Given the description of an element on the screen output the (x, y) to click on. 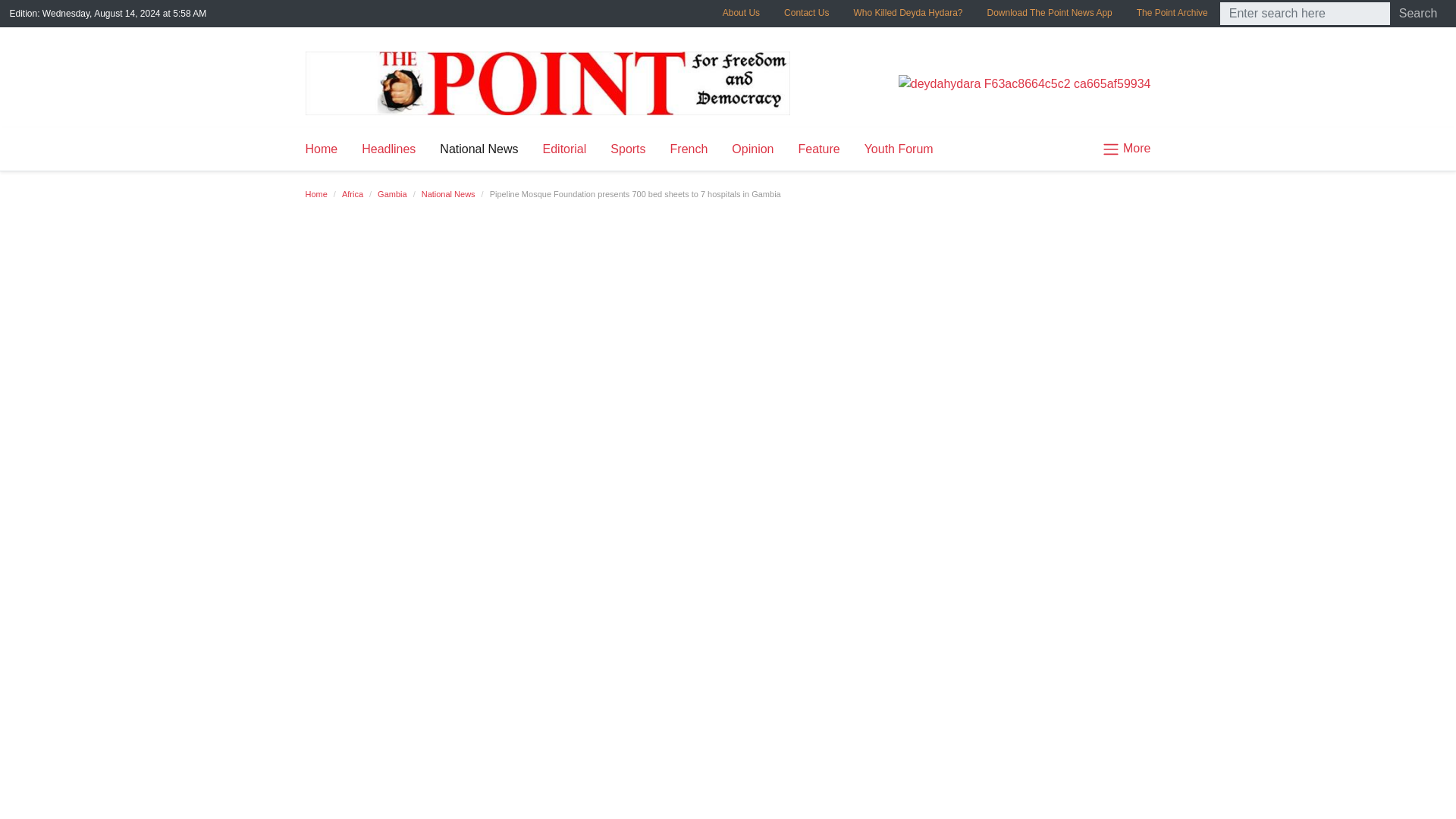
Who Killed Deyda Hydara? (907, 12)
Opinion (752, 149)
More (1120, 148)
Youth Forum (897, 149)
Gambia (392, 194)
Editorial (564, 149)
National News (449, 194)
Africa (352, 194)
Sports (628, 149)
Download The Point News App (1049, 12)
